Given the description of an element on the screen output the (x, y) to click on. 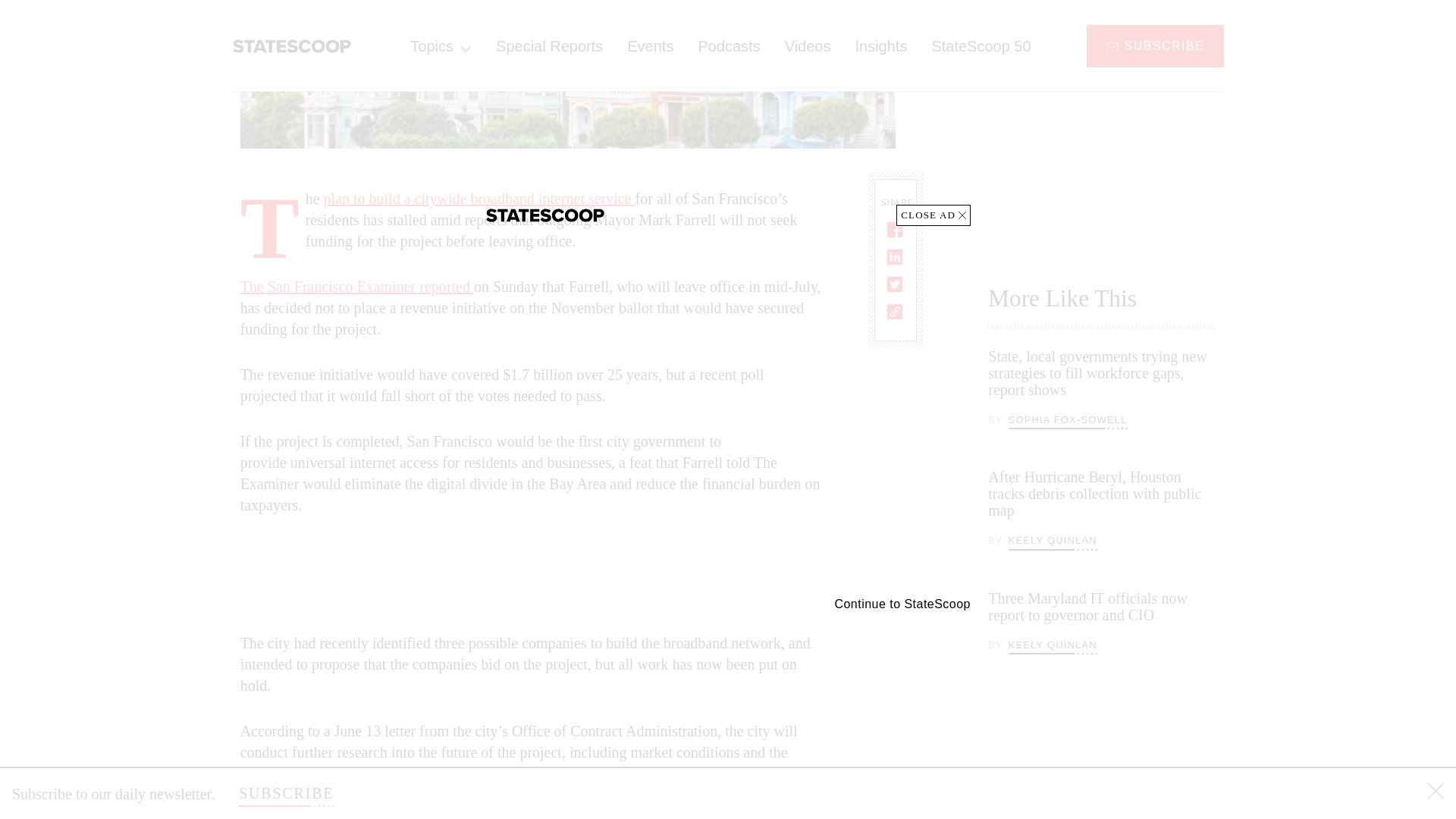
3rd party ad content (1101, 123)
